Given the description of an element on the screen output the (x, y) to click on. 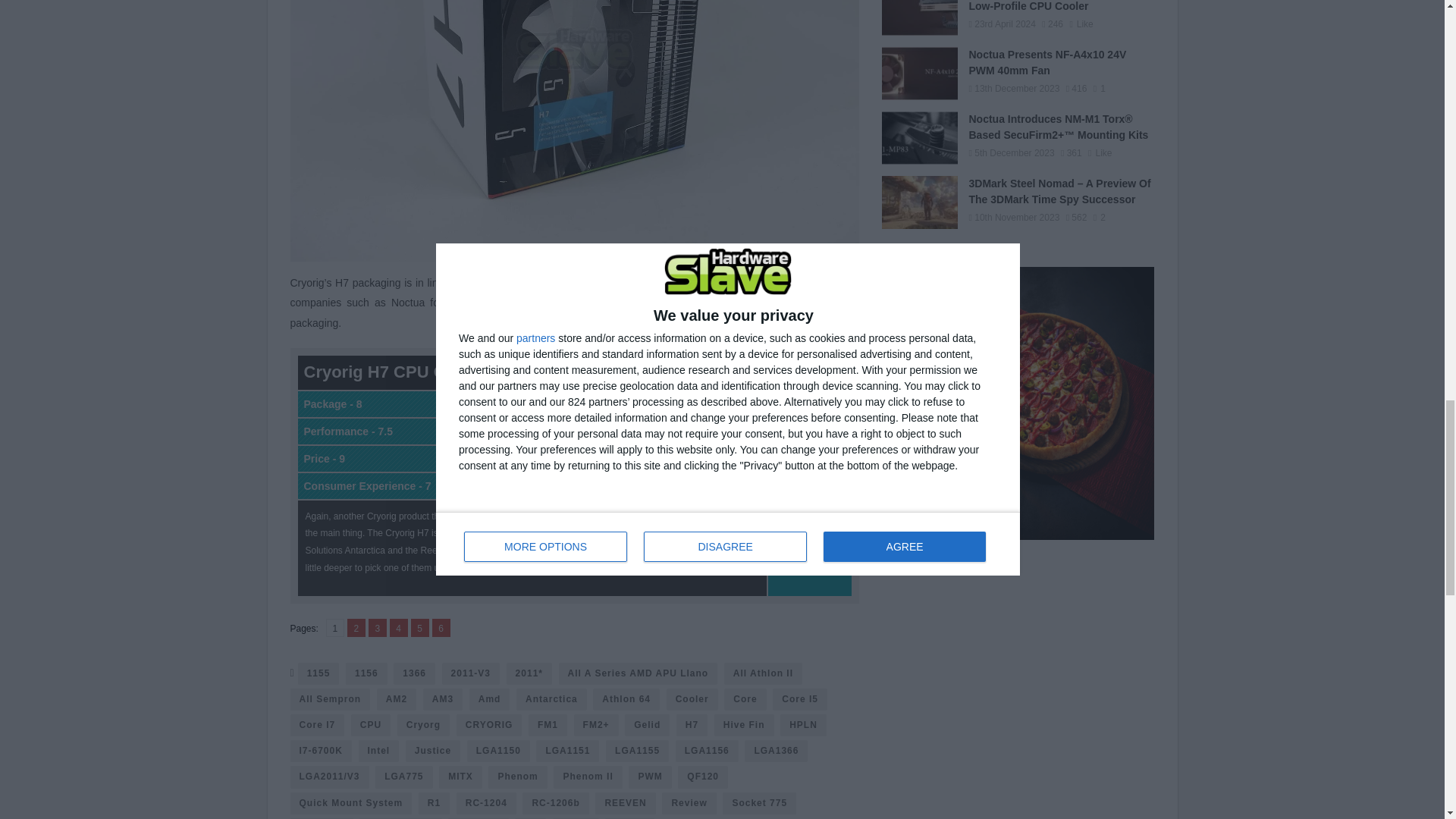
1155 (377, 628)
1366 (318, 673)
1156 (419, 628)
2011-V3 (440, 628)
